Given the description of an element on the screen output the (x, y) to click on. 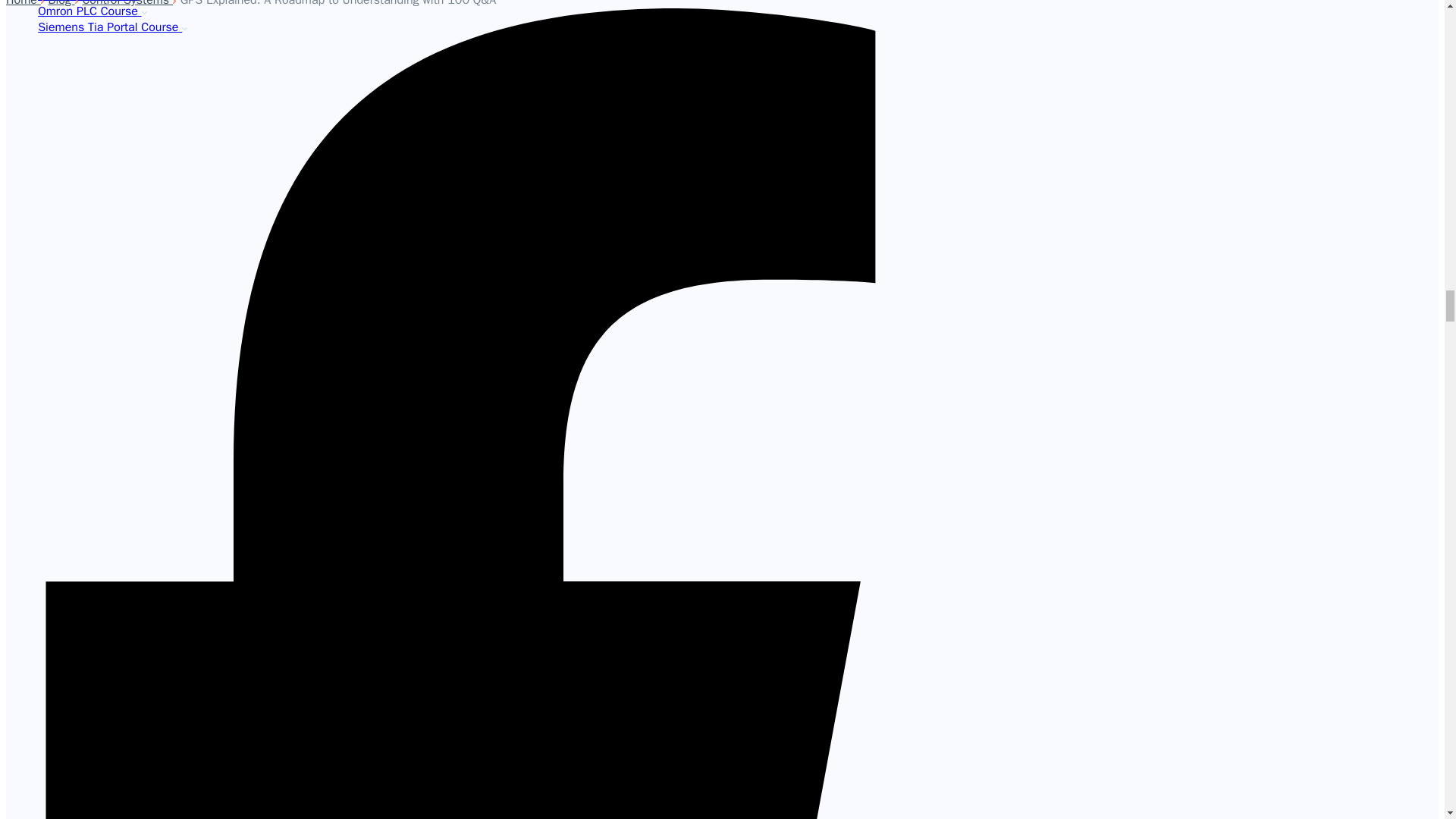
Omron PLC Course (92, 11)
Blog (61, 3)
Home (22, 3)
Control Systems (127, 3)
Siemens Tia Portal Course (112, 27)
